Given the description of an element on the screen output the (x, y) to click on. 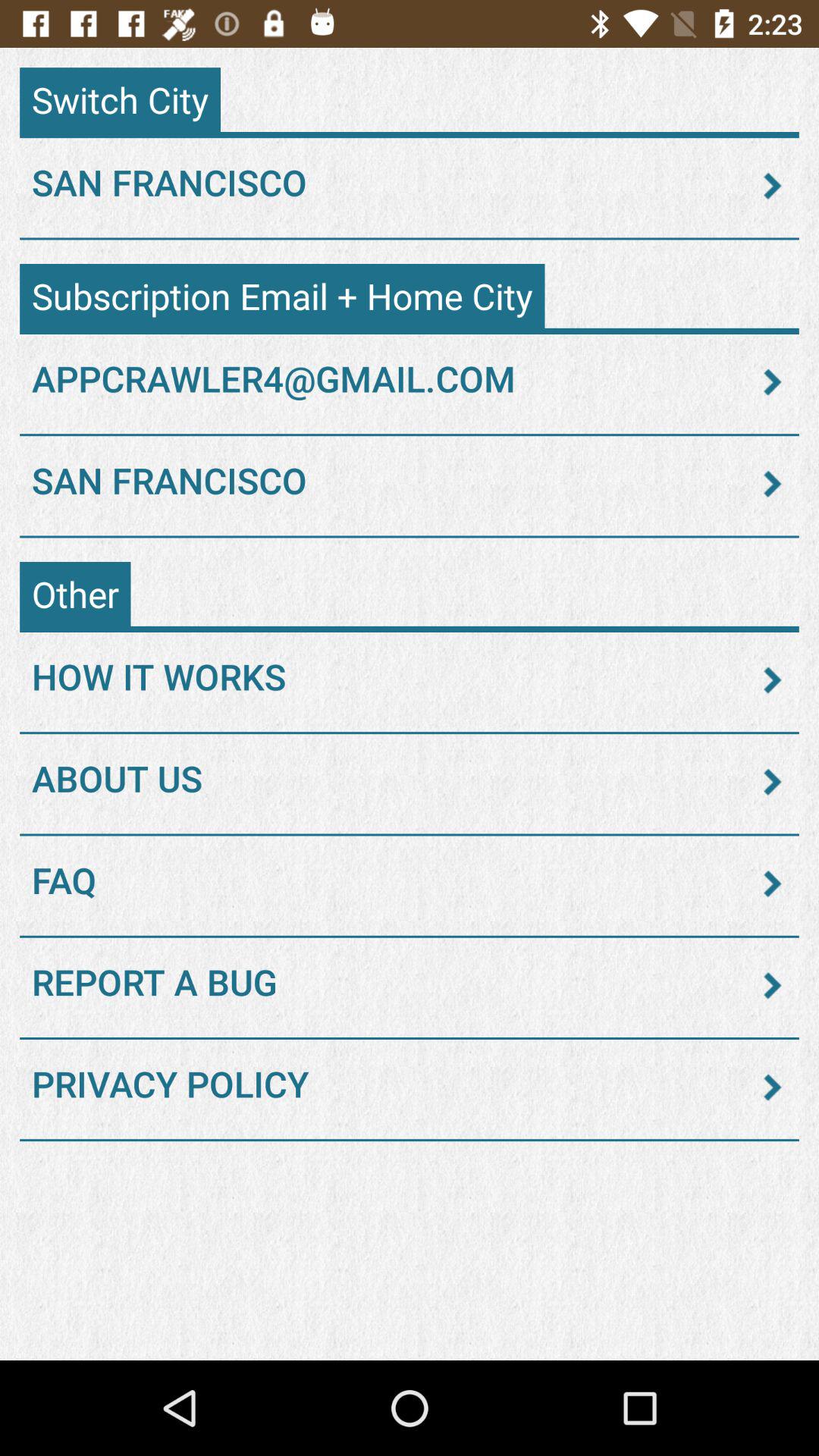
open report a bug icon (409, 985)
